Given the description of an element on the screen output the (x, y) to click on. 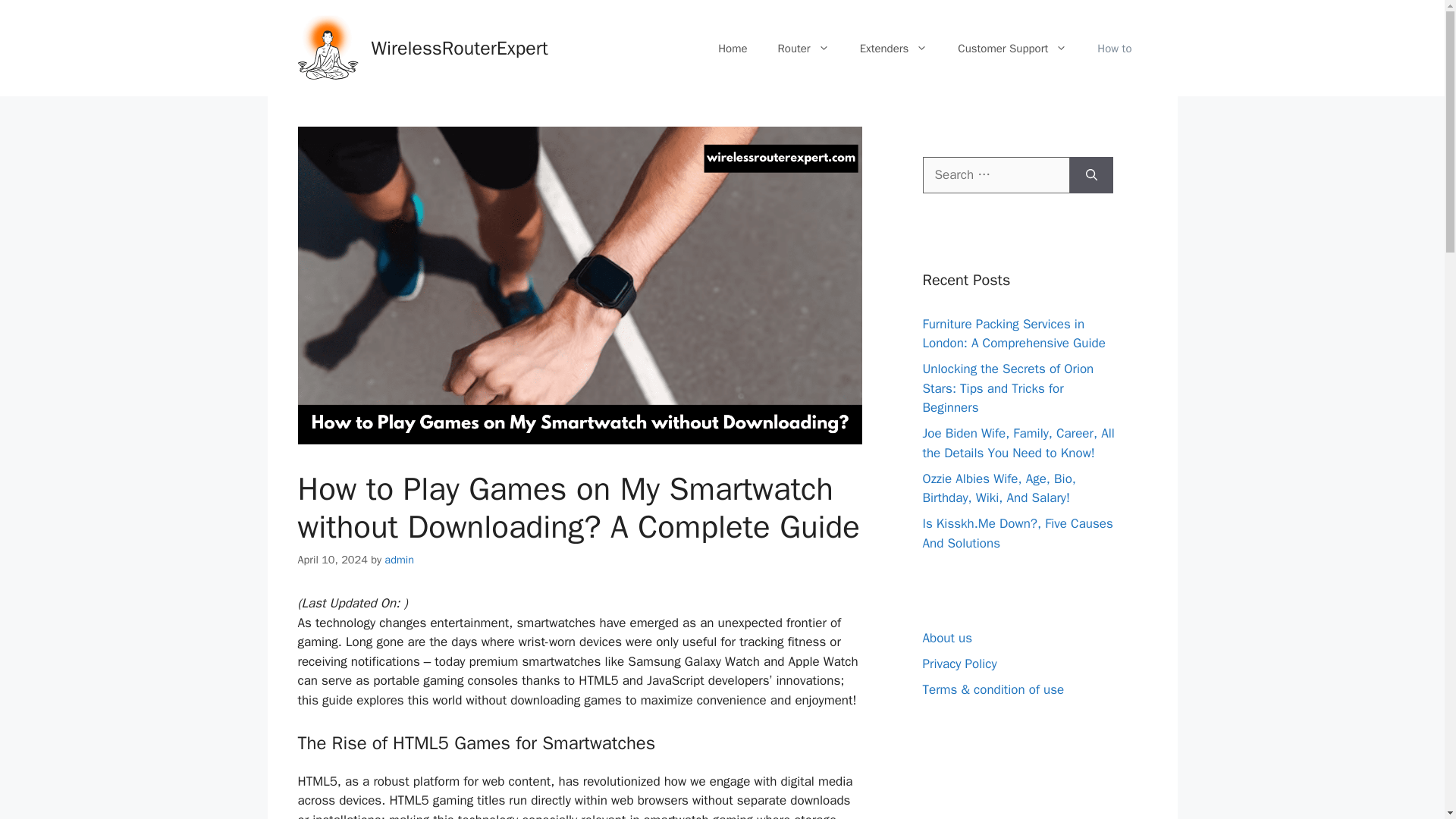
WirelessRouterExpert (459, 47)
How to (1114, 48)
Customer Support (1011, 48)
View all posts by admin (398, 559)
Router (803, 48)
Home (732, 48)
admin (398, 559)
Extenders (893, 48)
Search for: (994, 175)
